Given the description of an element on the screen output the (x, y) to click on. 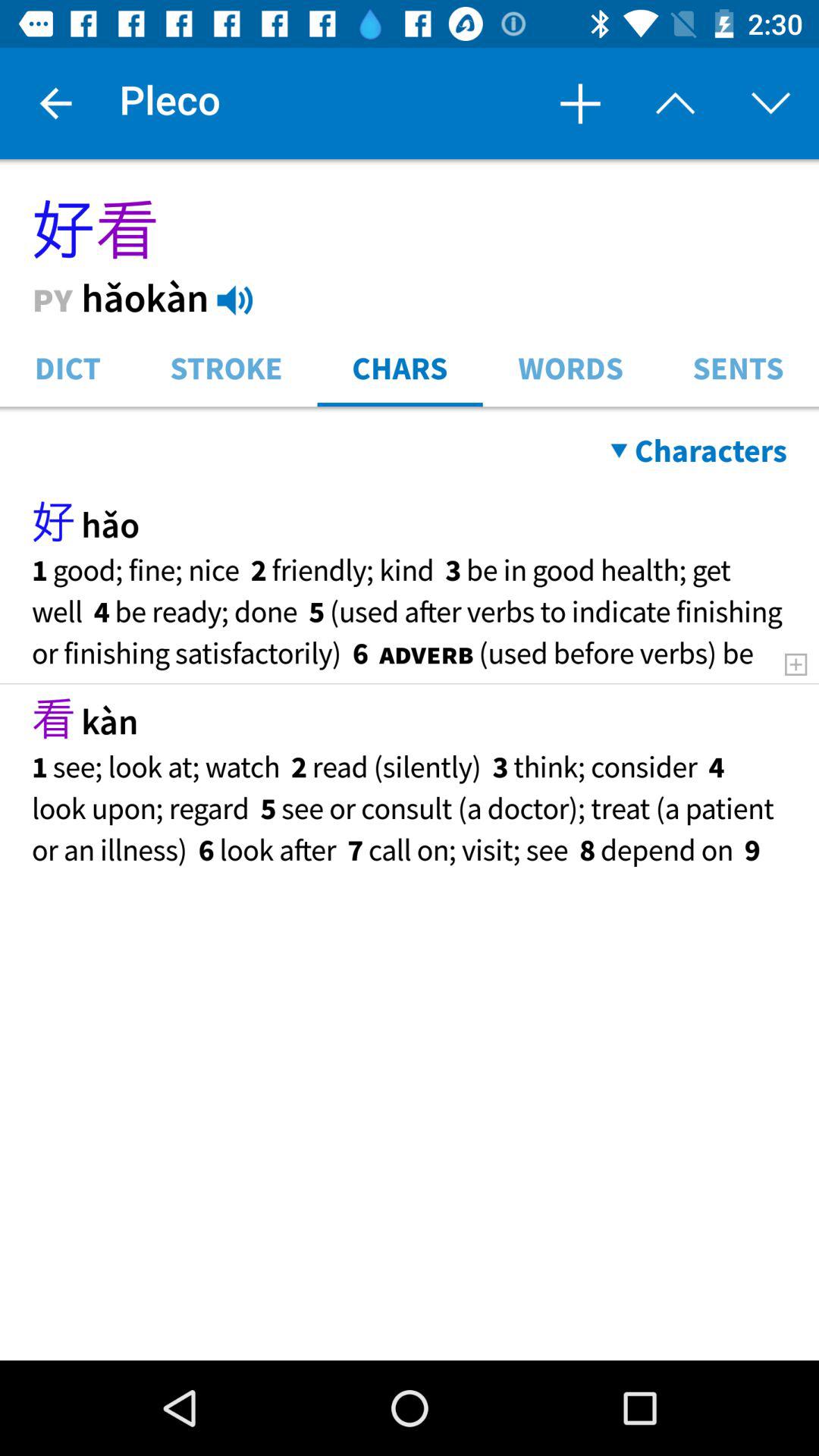
jump until words (570, 366)
